Given the description of an element on the screen output the (x, y) to click on. 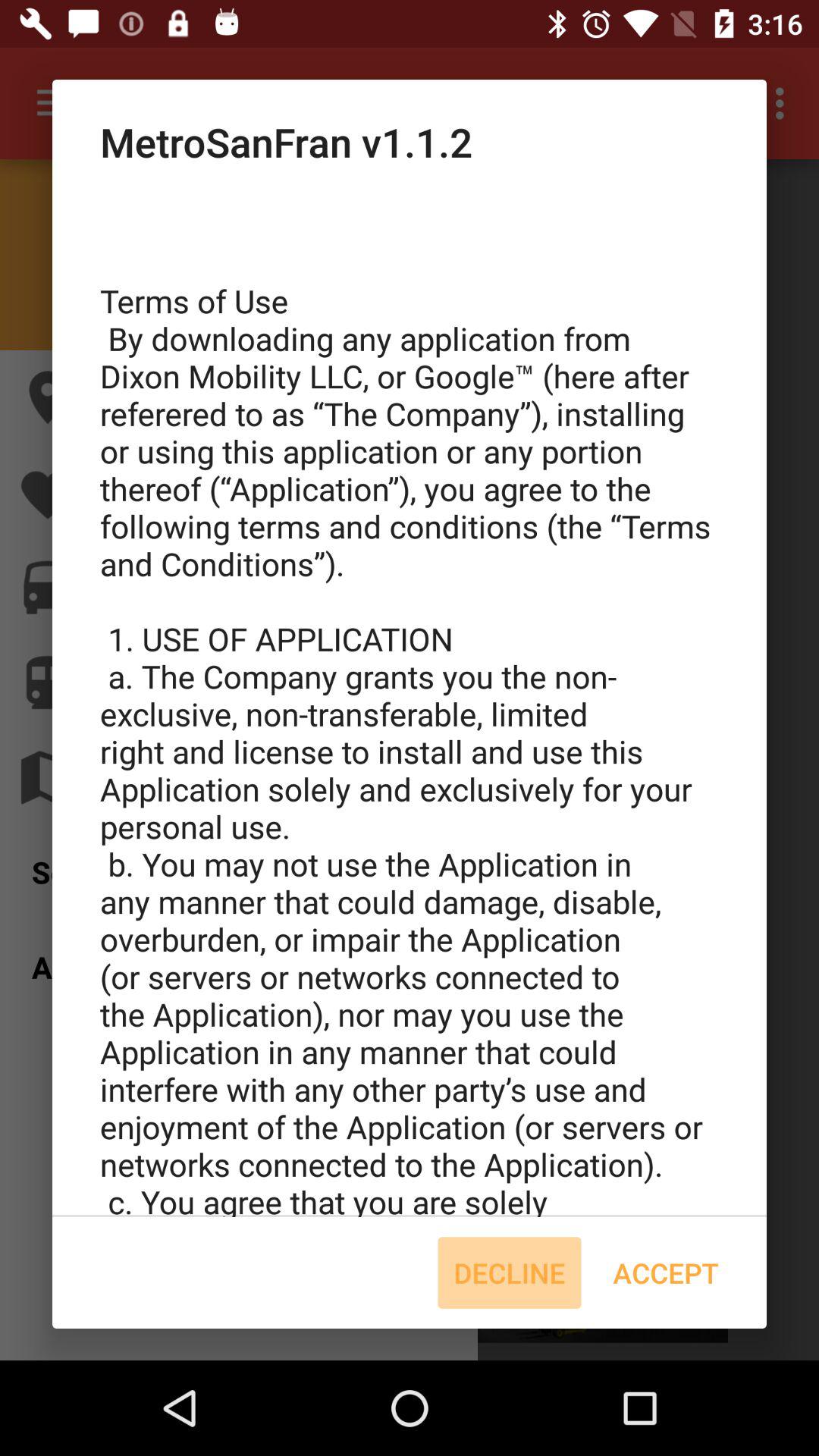
click the item to the right of the decline item (665, 1272)
